Given the description of an element on the screen output the (x, y) to click on. 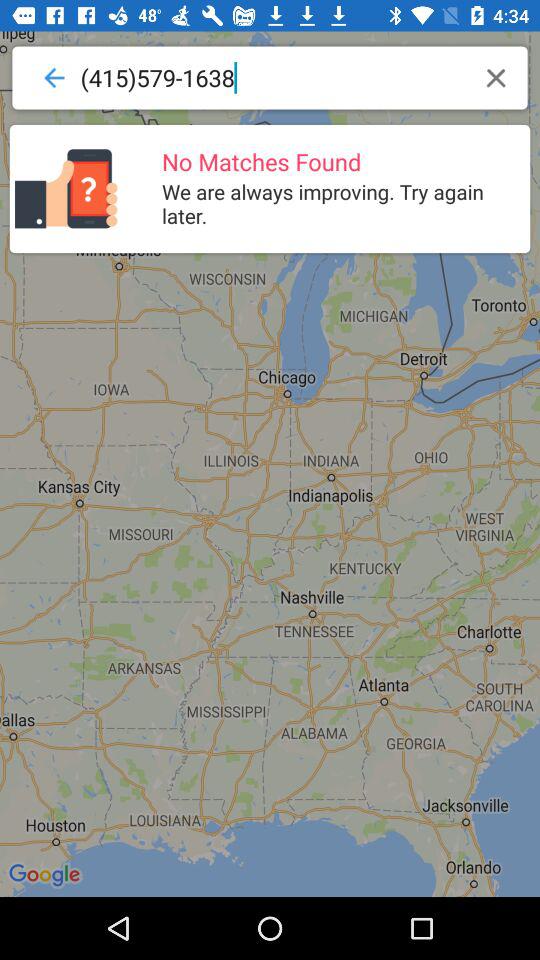
turn off (415)579-1638 (274, 77)
